Given the description of an element on the screen output the (x, y) to click on. 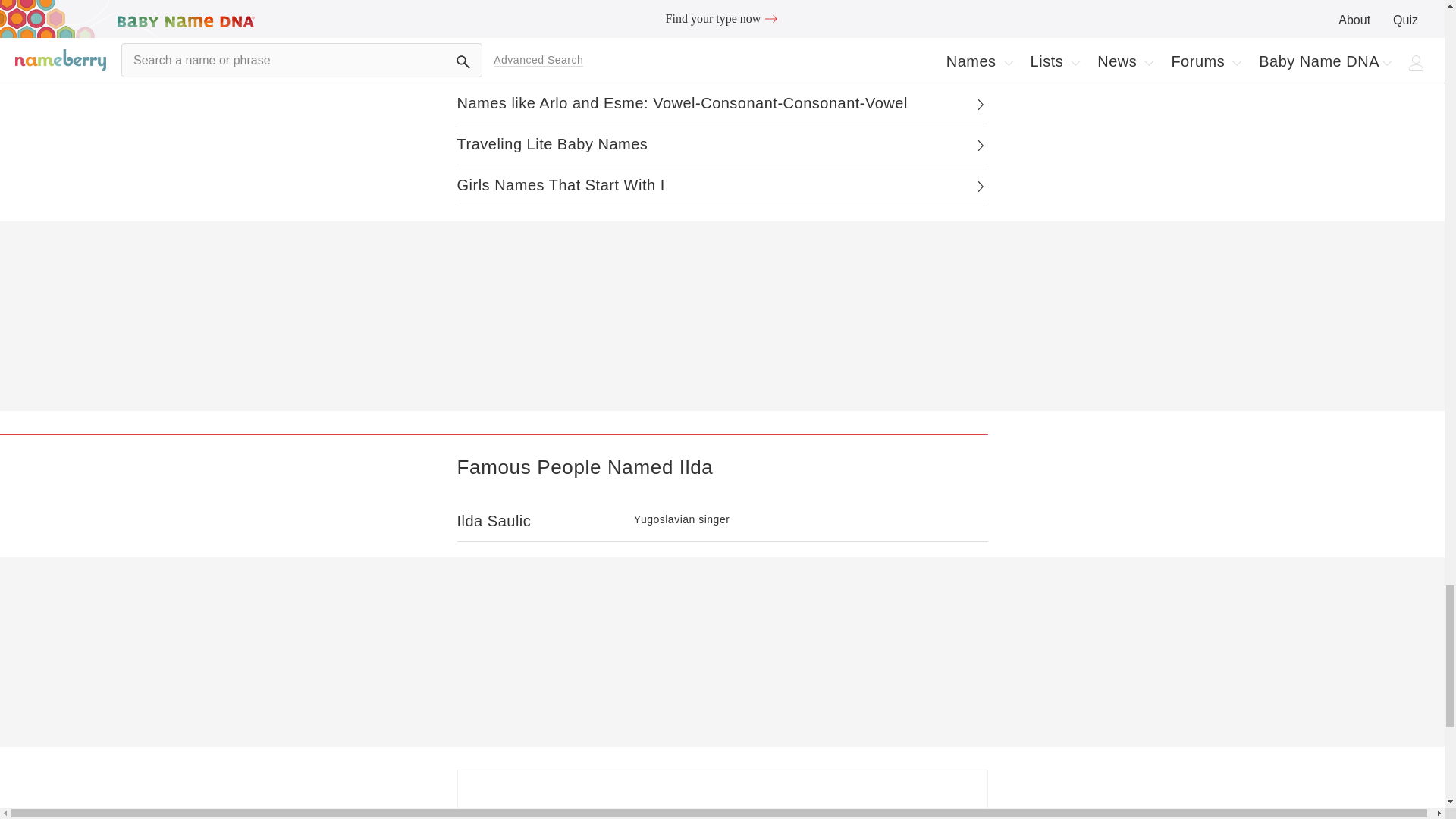
Sign up for the Nameberry Newsletter (722, 794)
